Given the description of an element on the screen output the (x, y) to click on. 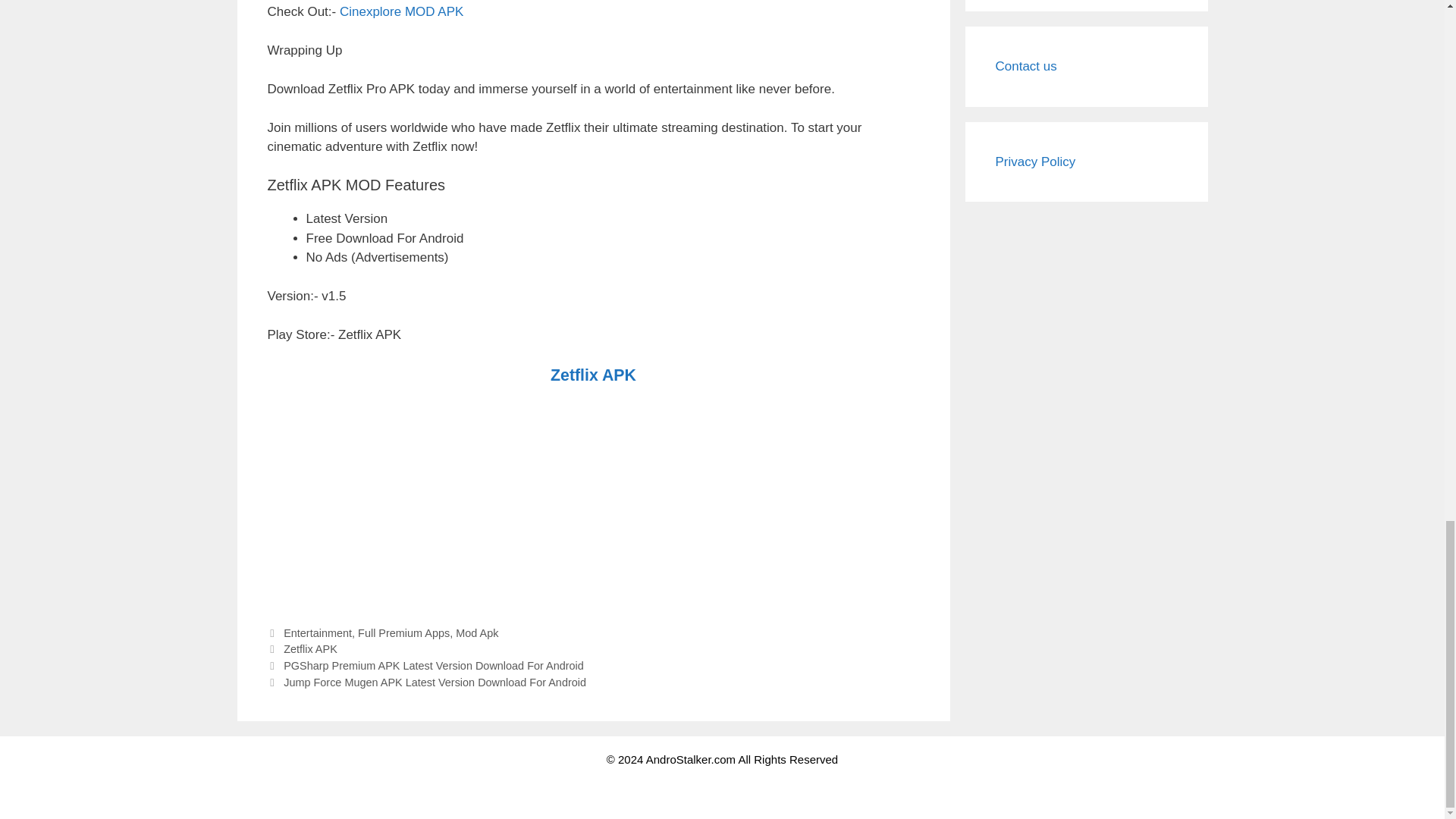
Zetflix APK (310, 648)
Entertainment (317, 633)
PGSharp Premium APK Latest Version Download For Android (433, 665)
Full Premium Apps (403, 633)
Zetflix APK (593, 376)
Jump Force Mugen APK Latest Version Download For Android (434, 682)
Cinexplore MOD APK (401, 11)
Mod Apk (476, 633)
